Given the description of an element on the screen output the (x, y) to click on. 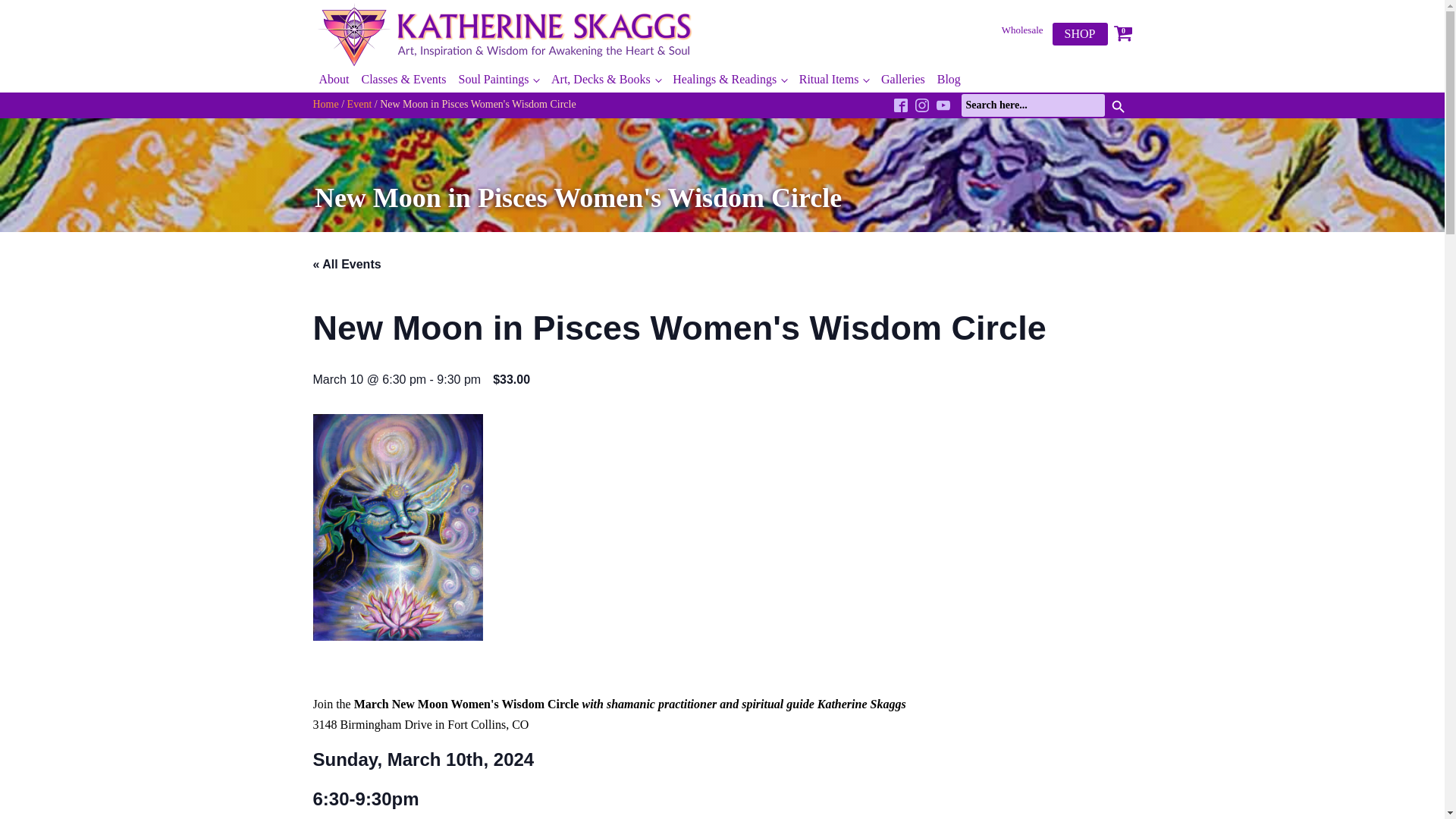
SHOP (1080, 33)
About (334, 79)
Soul Paintings (497, 79)
Wholesale (1022, 30)
